Given the description of an element on the screen output the (x, y) to click on. 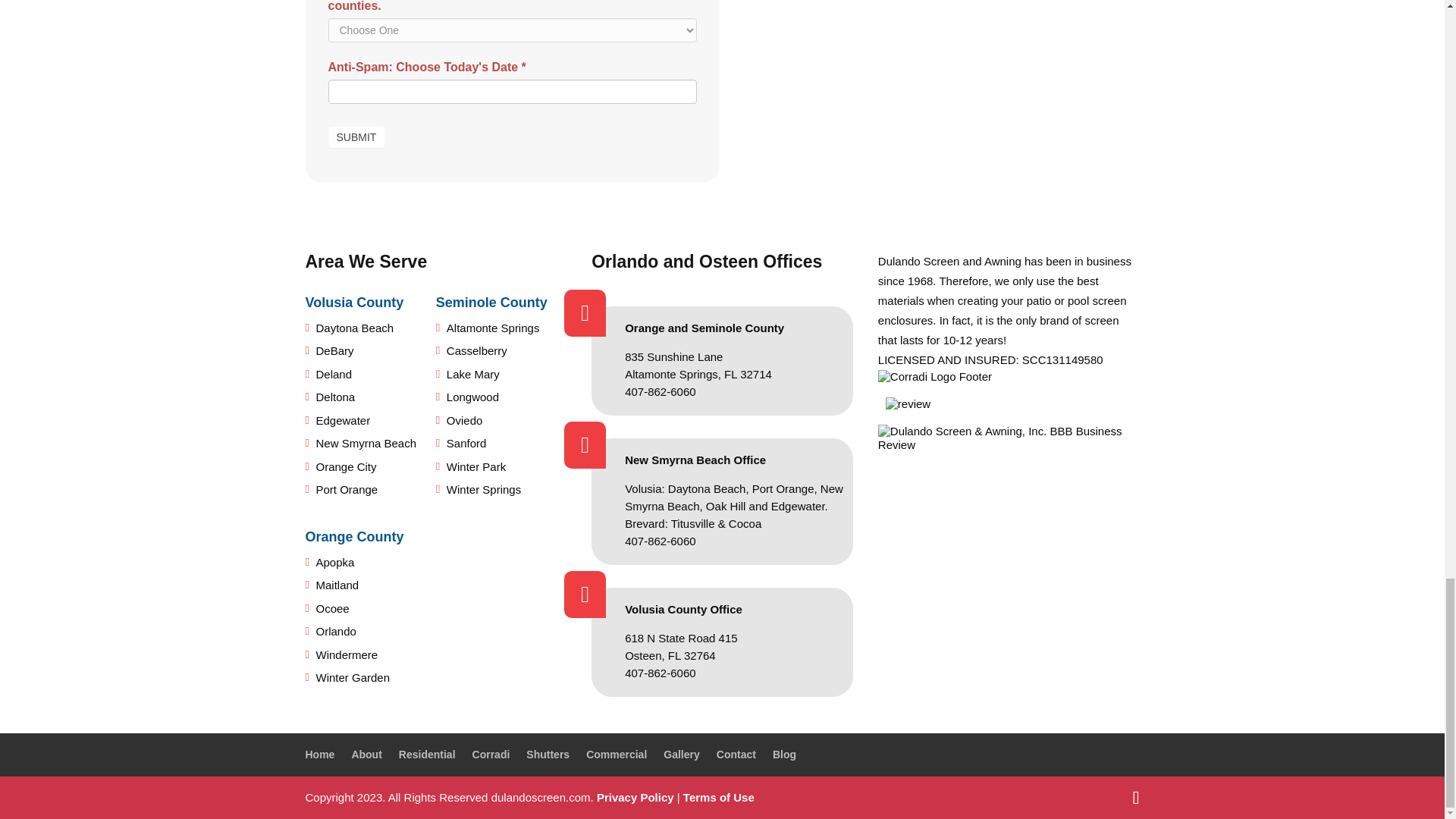
Submit (355, 137)
